Given the description of an element on the screen output the (x, y) to click on. 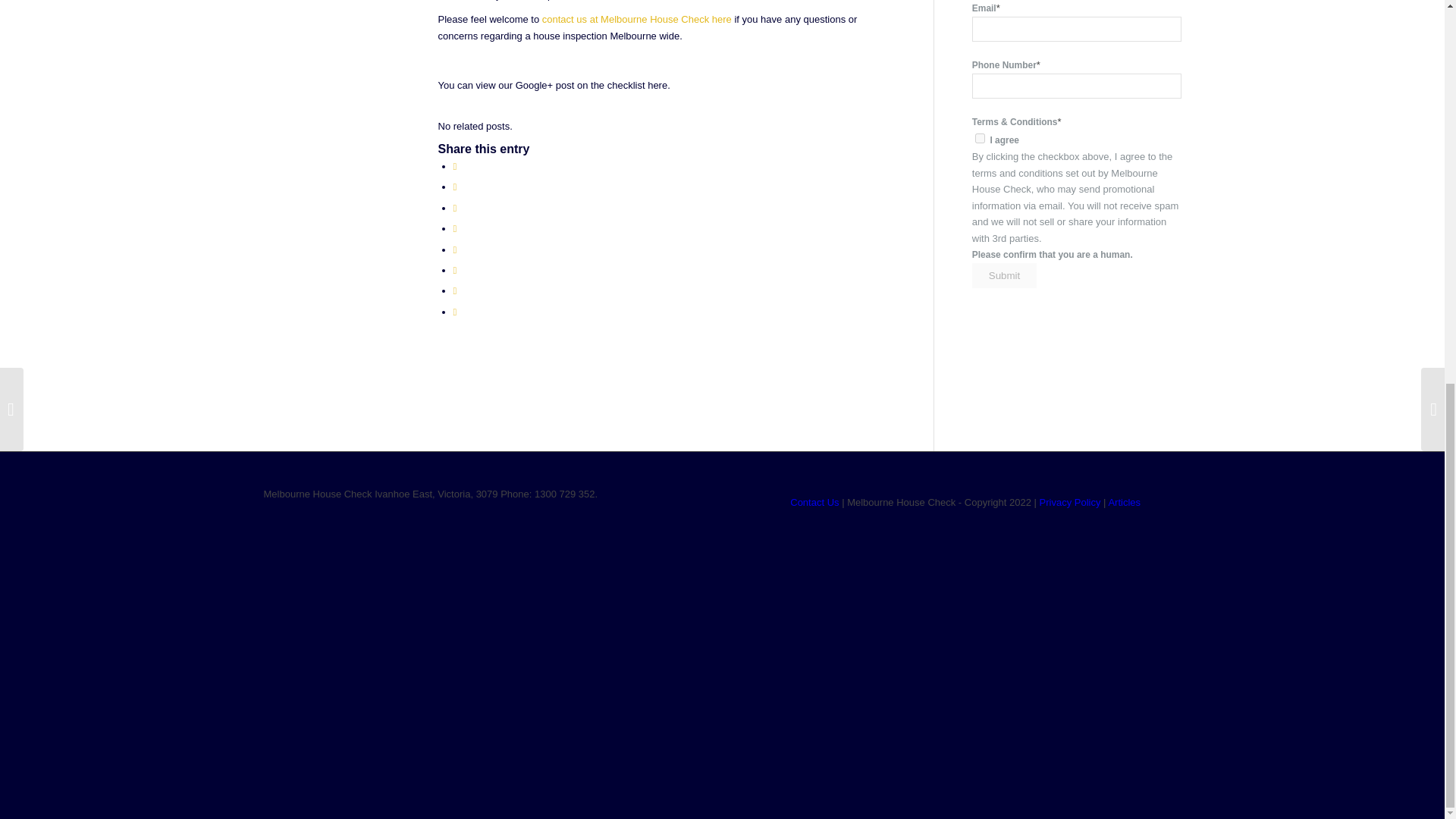
Submit (1004, 275)
contact us at Melbourne House Check here (636, 19)
privacy-confirm (980, 138)
